Given the description of an element on the screen output the (x, y) to click on. 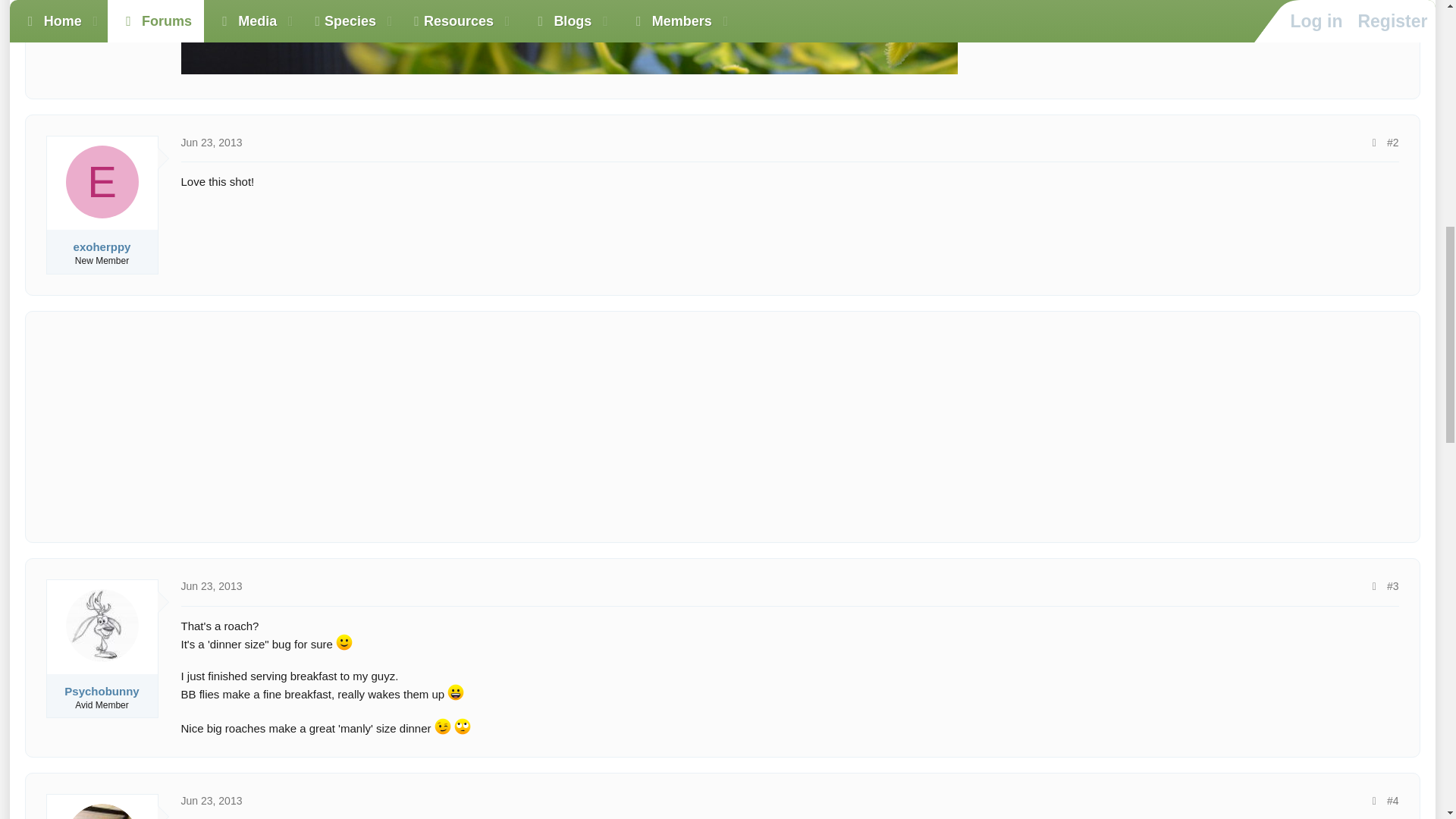
Jun 23, 2013 at 8:39 AM (210, 585)
Jun 23, 2013 at 8:23 AM (210, 142)
Roll Eyes    :rolleyes: (462, 726)
3rd party ad content (721, 426)
Big Grin    :D (455, 692)
Jun 23, 2013 at 1:49 PM (210, 800)
